Given the description of an element on the screen output the (x, y) to click on. 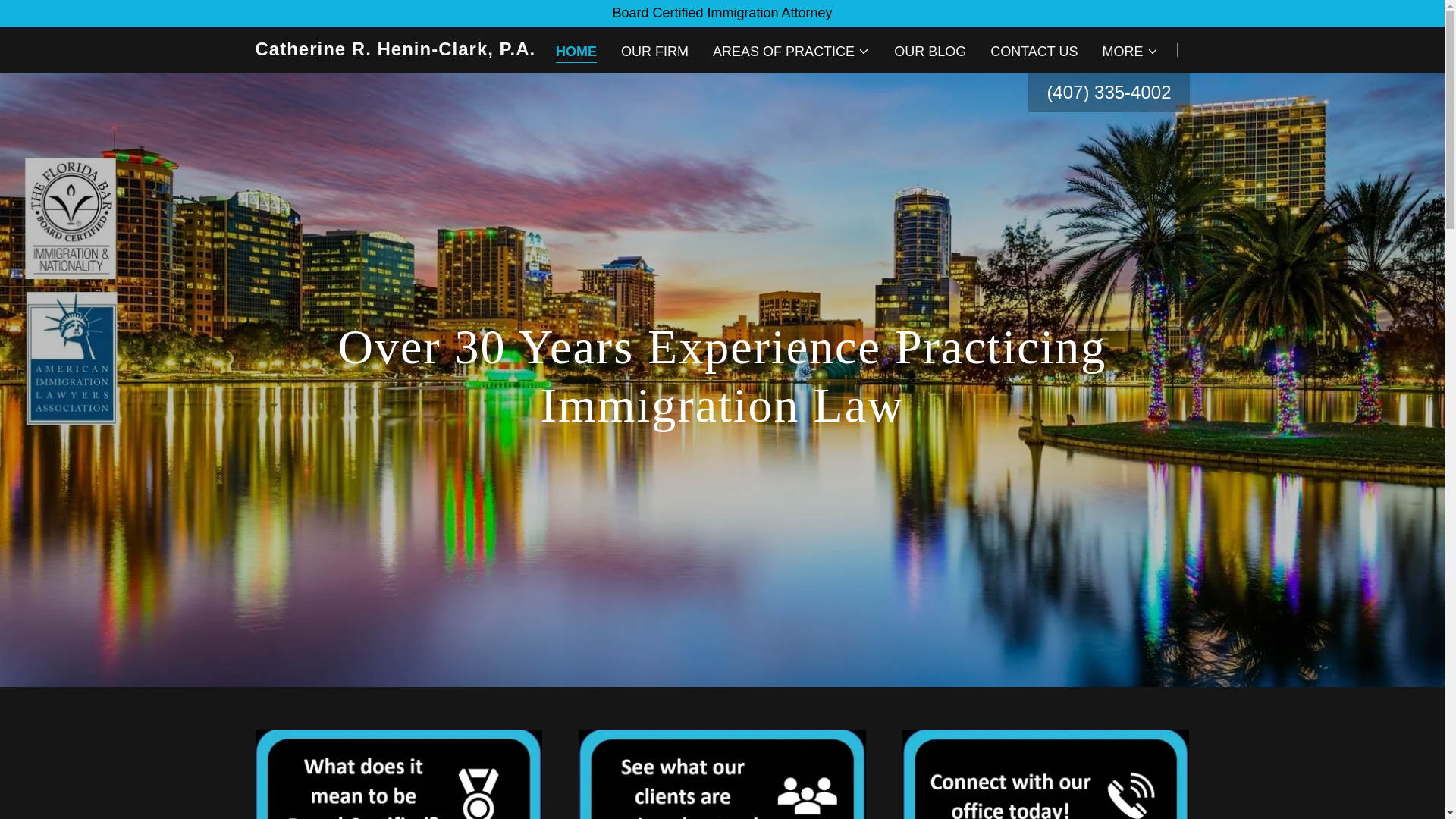
AREAS OF PRACTICE (791, 51)
OUR FIRM (654, 51)
OUR BLOG (930, 51)
MORE (1130, 51)
CONTACT US (1033, 51)
Catherine R. Henin-Clark, P.A. (417, 50)
HOME (576, 52)
Catherine R. Henin-Clark, P.A. (417, 50)
